Given the description of an element on the screen output the (x, y) to click on. 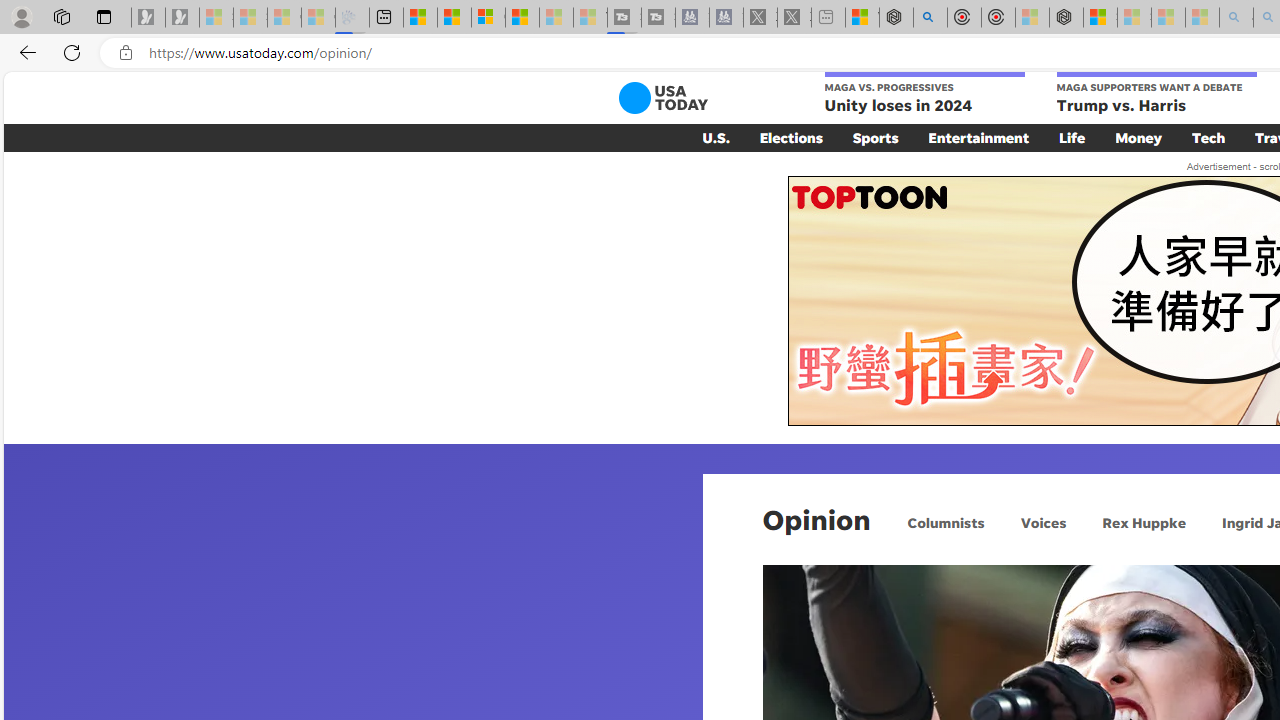
Wildlife - MSN (862, 17)
Voices (1042, 521)
